Given the description of an element on the screen output the (x, y) to click on. 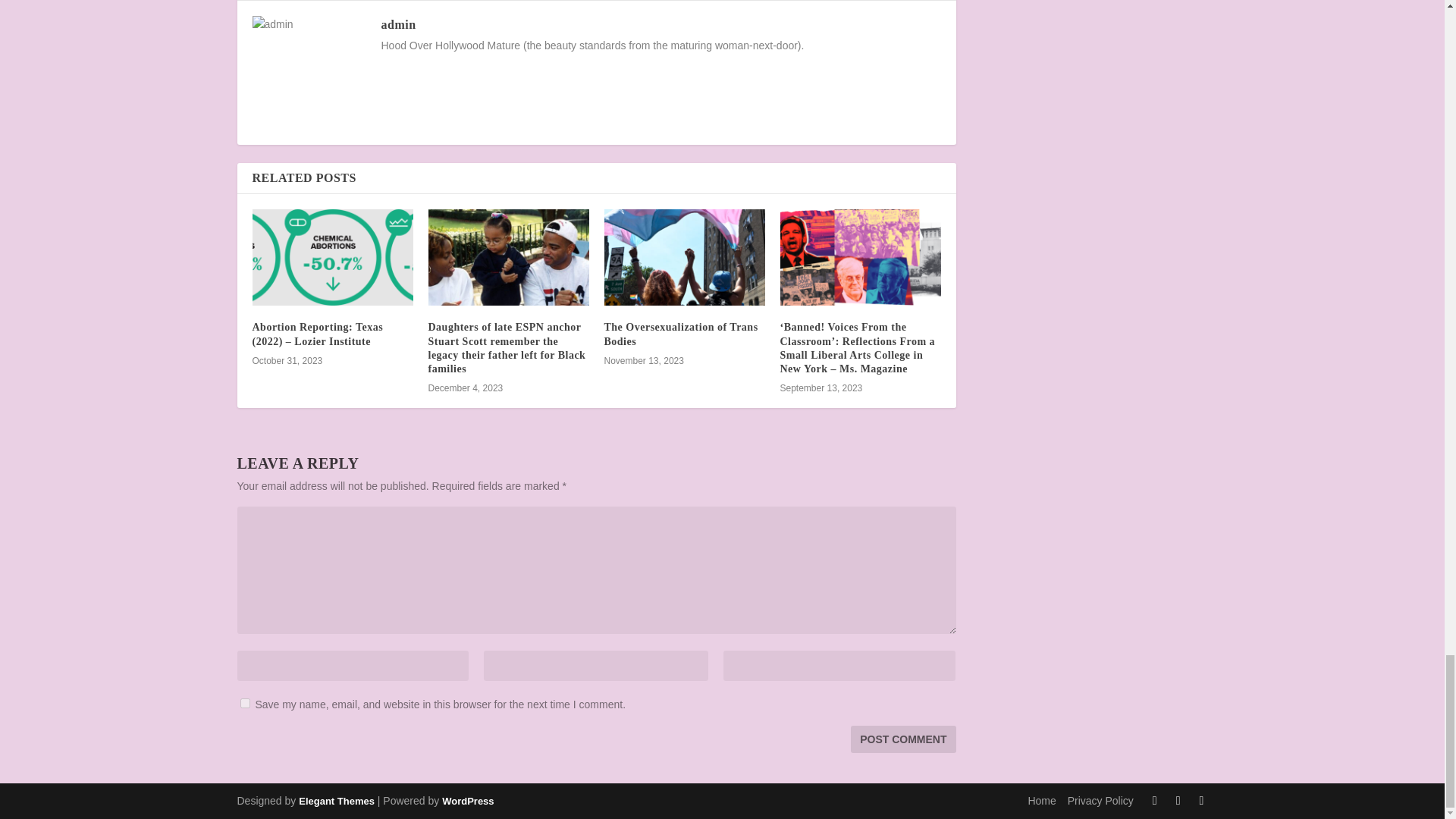
Post Comment (902, 738)
yes (244, 703)
